Given the description of an element on the screen output the (x, y) to click on. 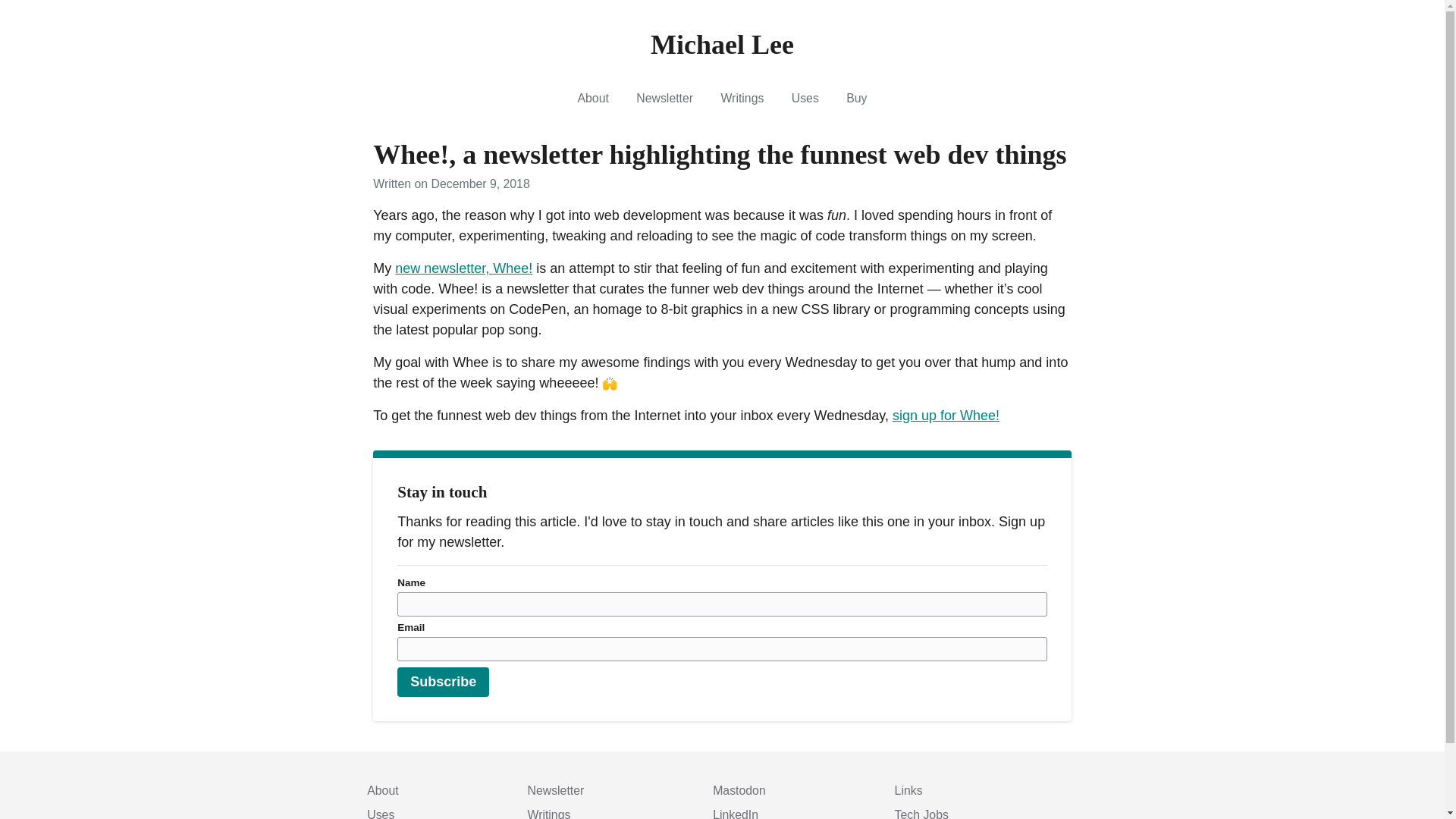
new newsletter, Whee! (463, 268)
Subscribe (443, 681)
LinkedIn (735, 813)
About (593, 98)
About (381, 789)
Michael Lee (721, 44)
Uses (805, 98)
sign up for Whee! (945, 415)
Tech Jobs (922, 813)
Newsletter (664, 98)
